Given the description of an element on the screen output the (x, y) to click on. 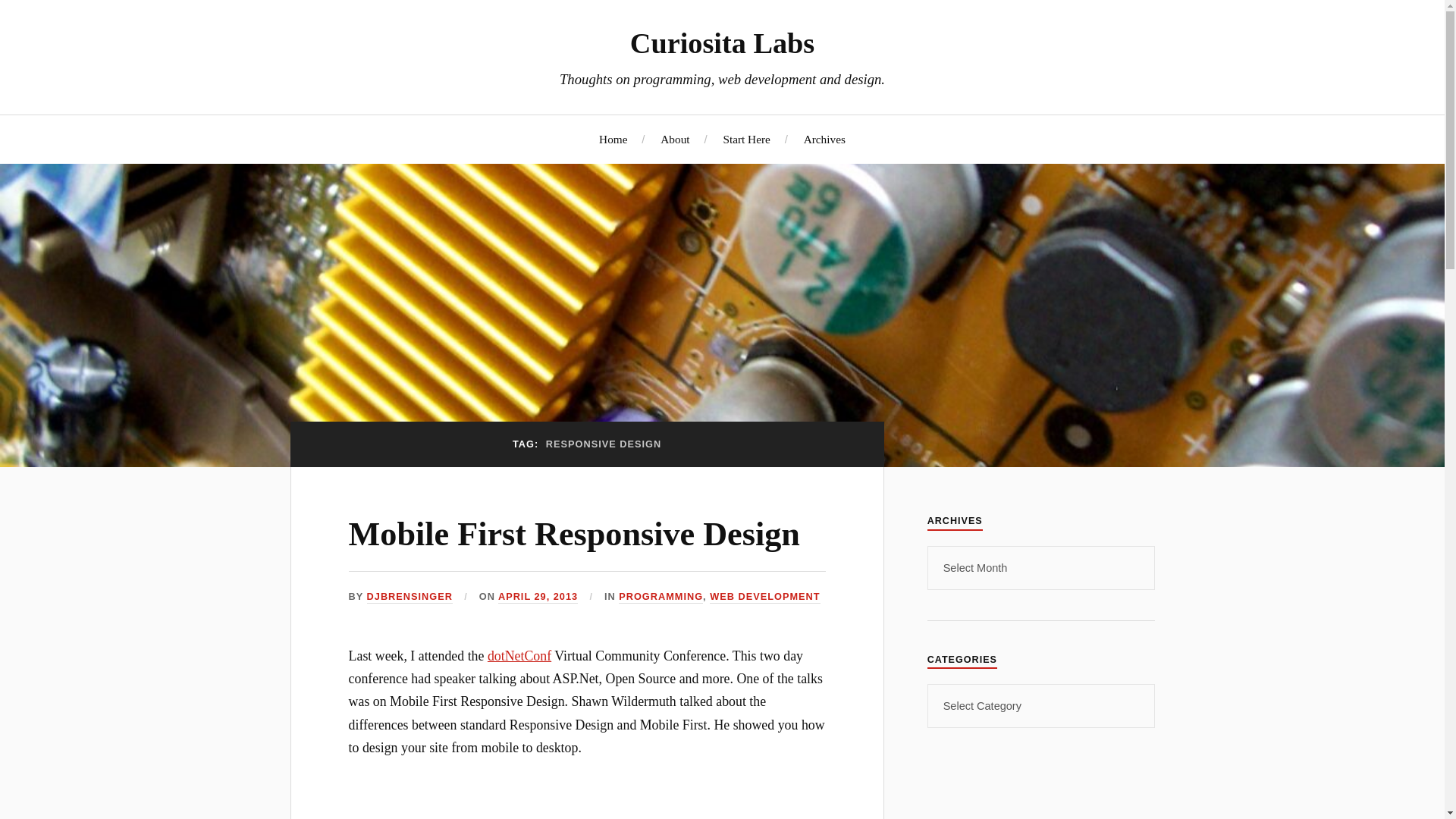
Posts by djbrensinger (409, 596)
Mobile First Responsive Design (574, 533)
WEB DEVELOPMENT (764, 596)
Start Here (746, 138)
dotNetConf (519, 655)
DJBRENSINGER (409, 596)
PROGRAMMING (660, 596)
Curiosita Labs (721, 42)
APRIL 29, 2013 (537, 596)
